Given the description of an element on the screen output the (x, y) to click on. 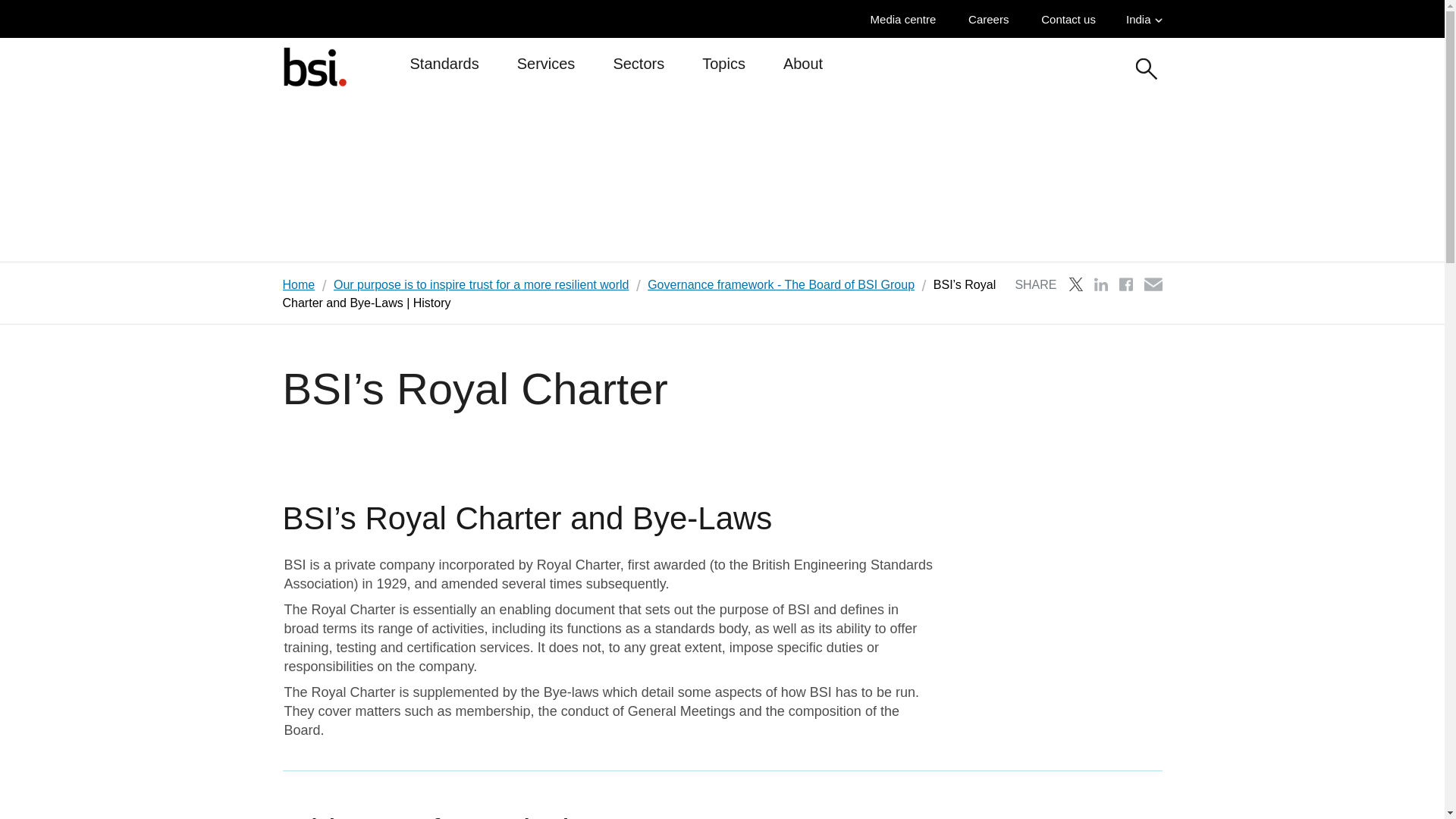
Standards (444, 70)
Contact us (1072, 19)
logo (314, 65)
Media centre (906, 19)
India (1143, 19)
Careers (992, 19)
Contact us (1072, 19)
Media centre (906, 19)
Careers (992, 19)
